Given the description of an element on the screen output the (x, y) to click on. 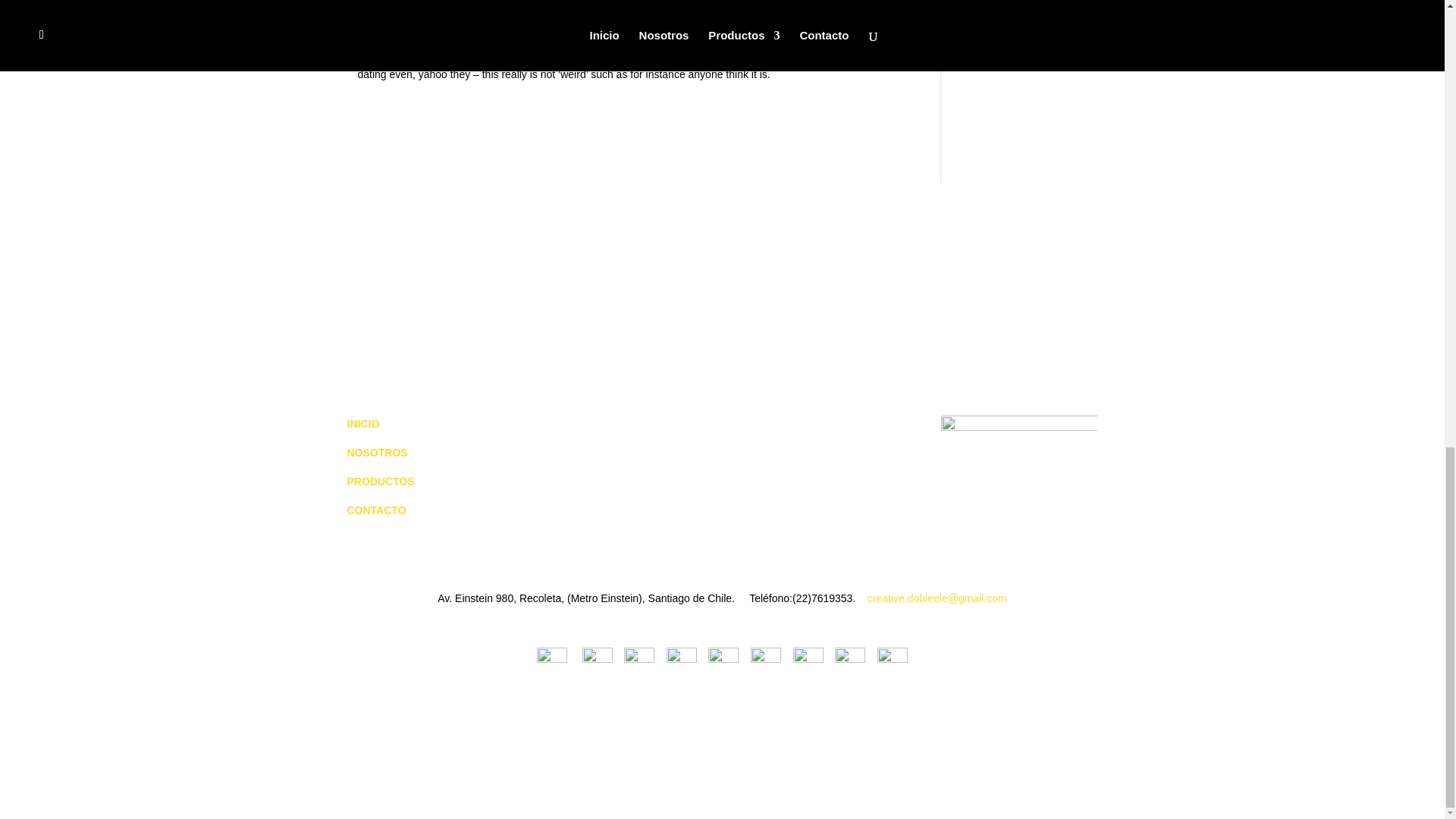
Behance (722, 658)
CONTACTO  (378, 510)
Linkedin (765, 658)
Flickr (808, 658)
INICIO (363, 423)
Twitter (638, 658)
NOSOTROS  (378, 452)
PRODUCTOS  (382, 481)
redondo -04 (1018, 493)
Instagram (597, 658)
